Given the description of an element on the screen output the (x, y) to click on. 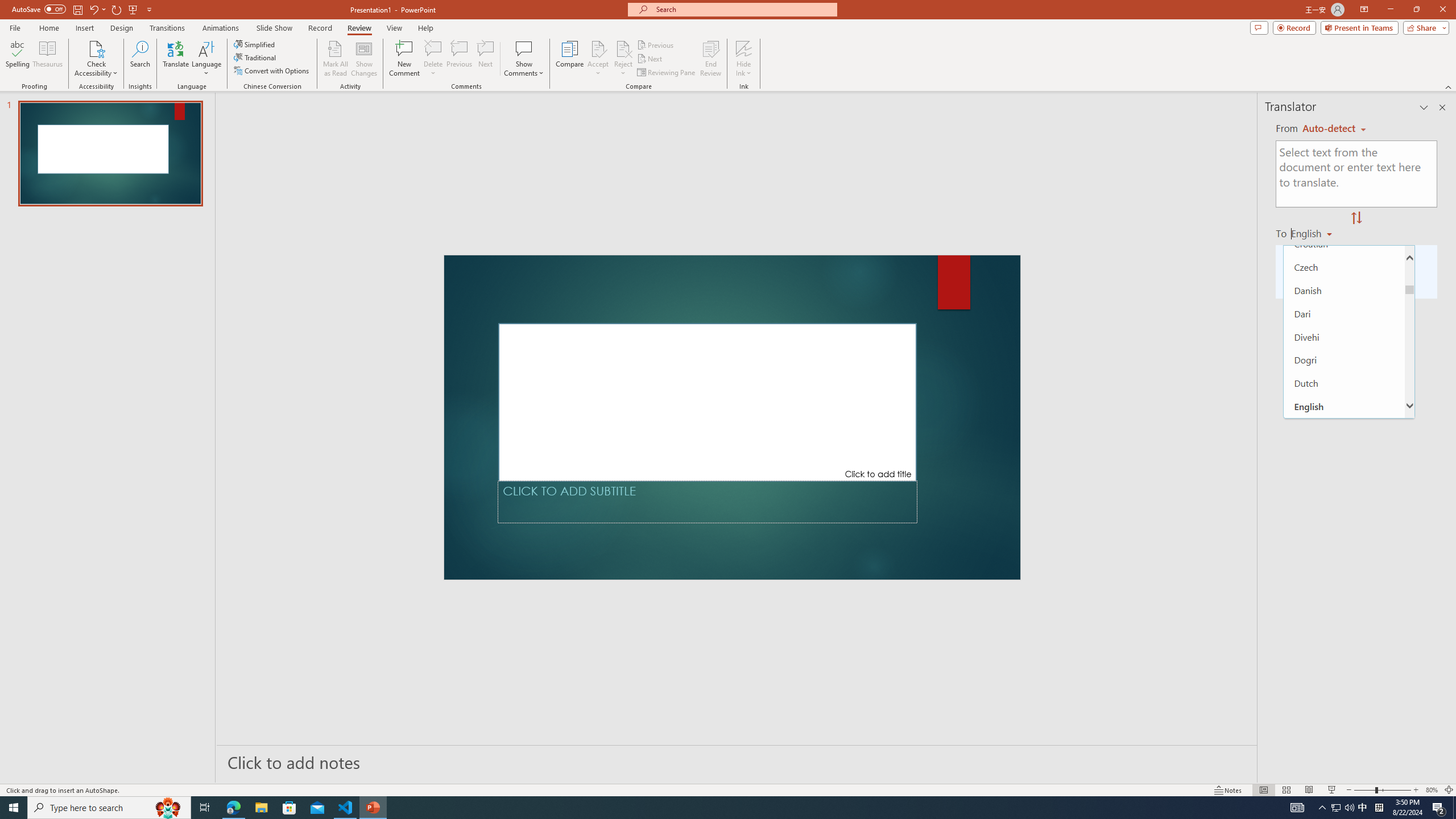
German (1344, 662)
English (1315, 232)
Thesaurus... (47, 58)
Ganda (1344, 616)
Show Comments (524, 48)
Dogri (1344, 359)
Divehi (1344, 336)
Reject (622, 58)
Show Comments (524, 58)
Translate (175, 58)
